Given the description of an element on the screen output the (x, y) to click on. 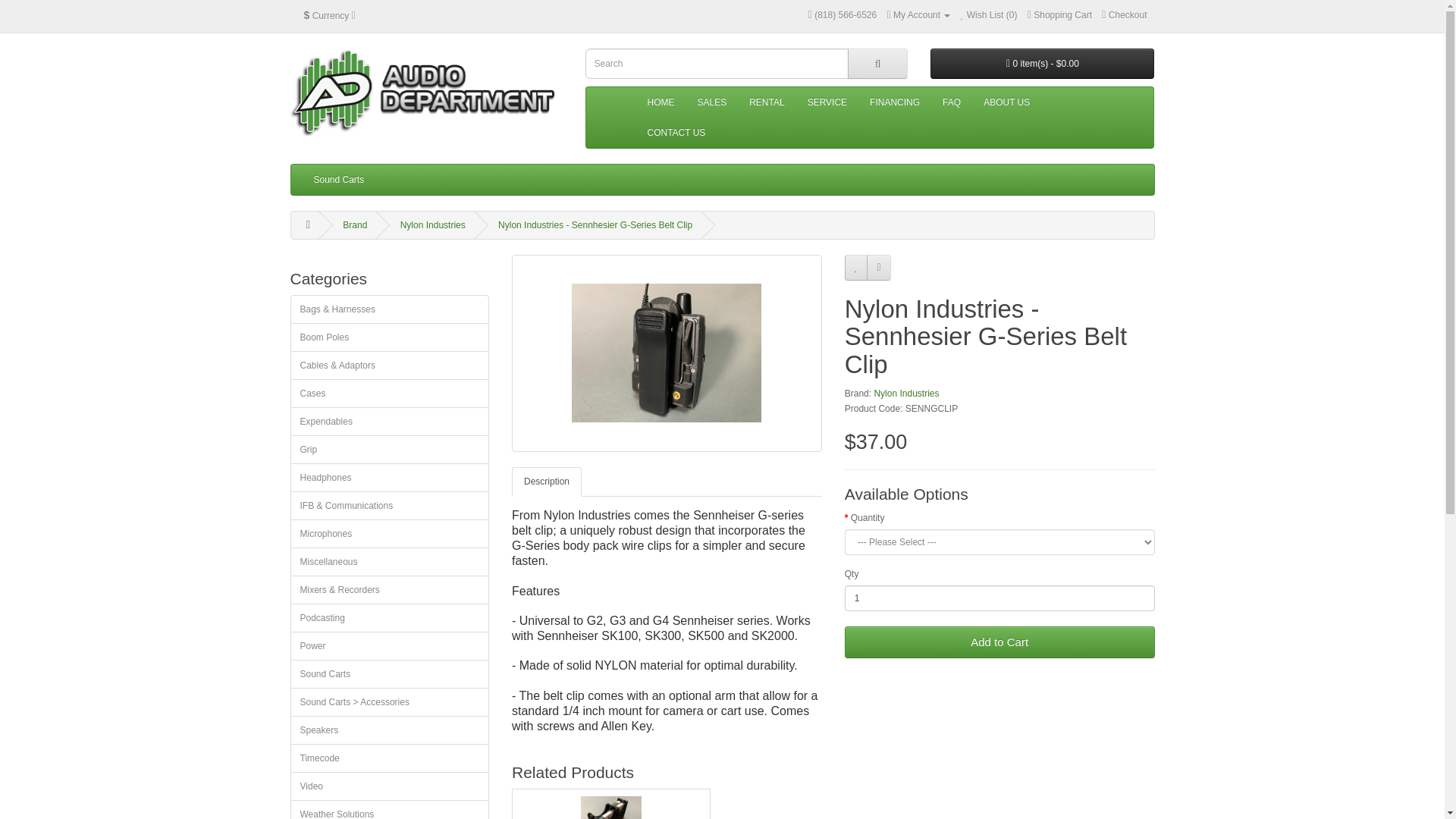
Brand (354, 225)
FAQ (951, 101)
Nylon Industries - Sennhesier G-Series Belt Clip (667, 353)
My Account (918, 14)
Checkout (1124, 14)
1 (999, 597)
Checkout (1124, 14)
Nylon Industries - NP-50 Battery Caddy  (611, 804)
RENTAL (766, 101)
CONTACT US (675, 132)
